Given the description of an element on the screen output the (x, y) to click on. 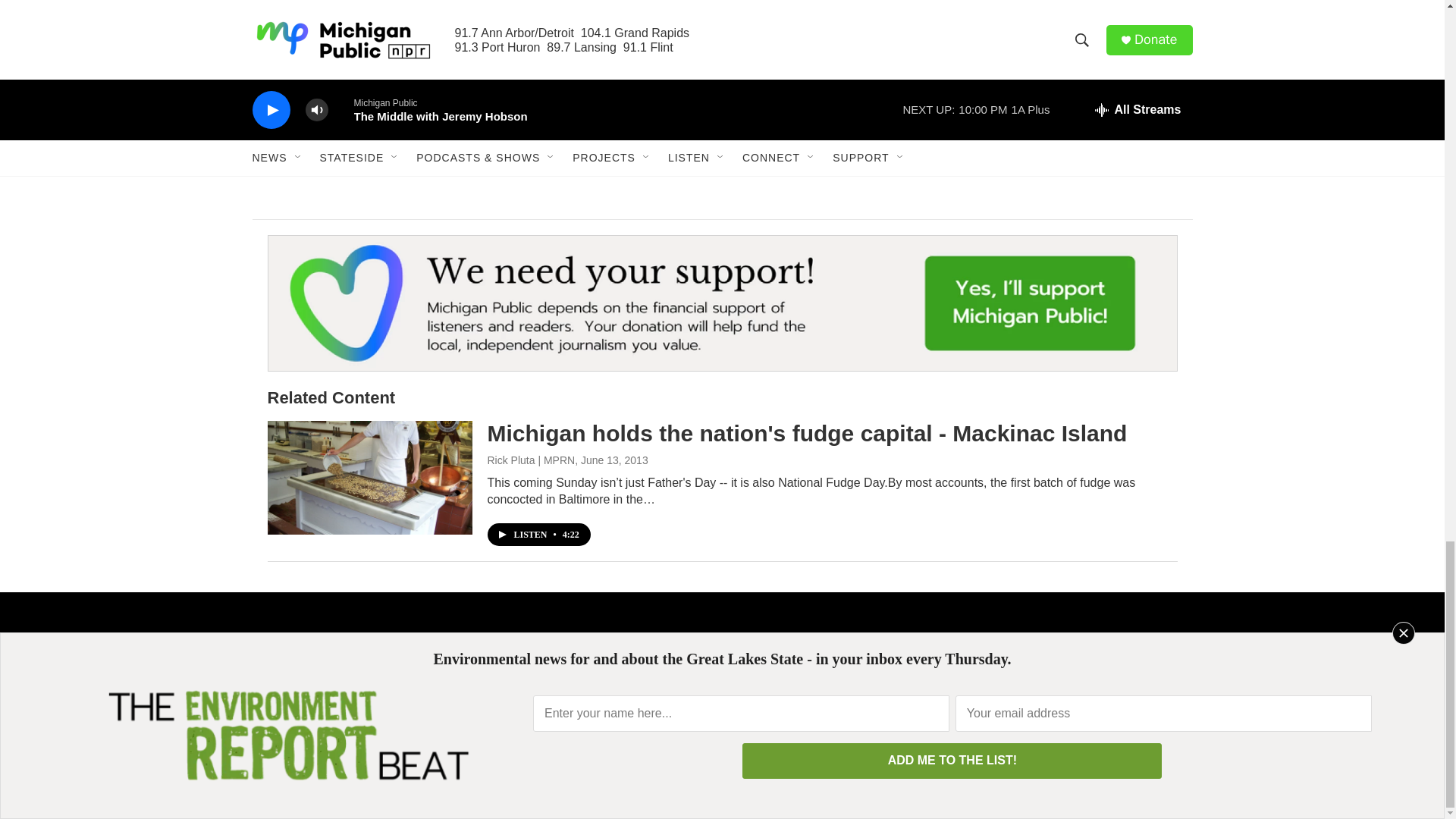
3rd party ad content (1062, 35)
